Given the description of an element on the screen output the (x, y) to click on. 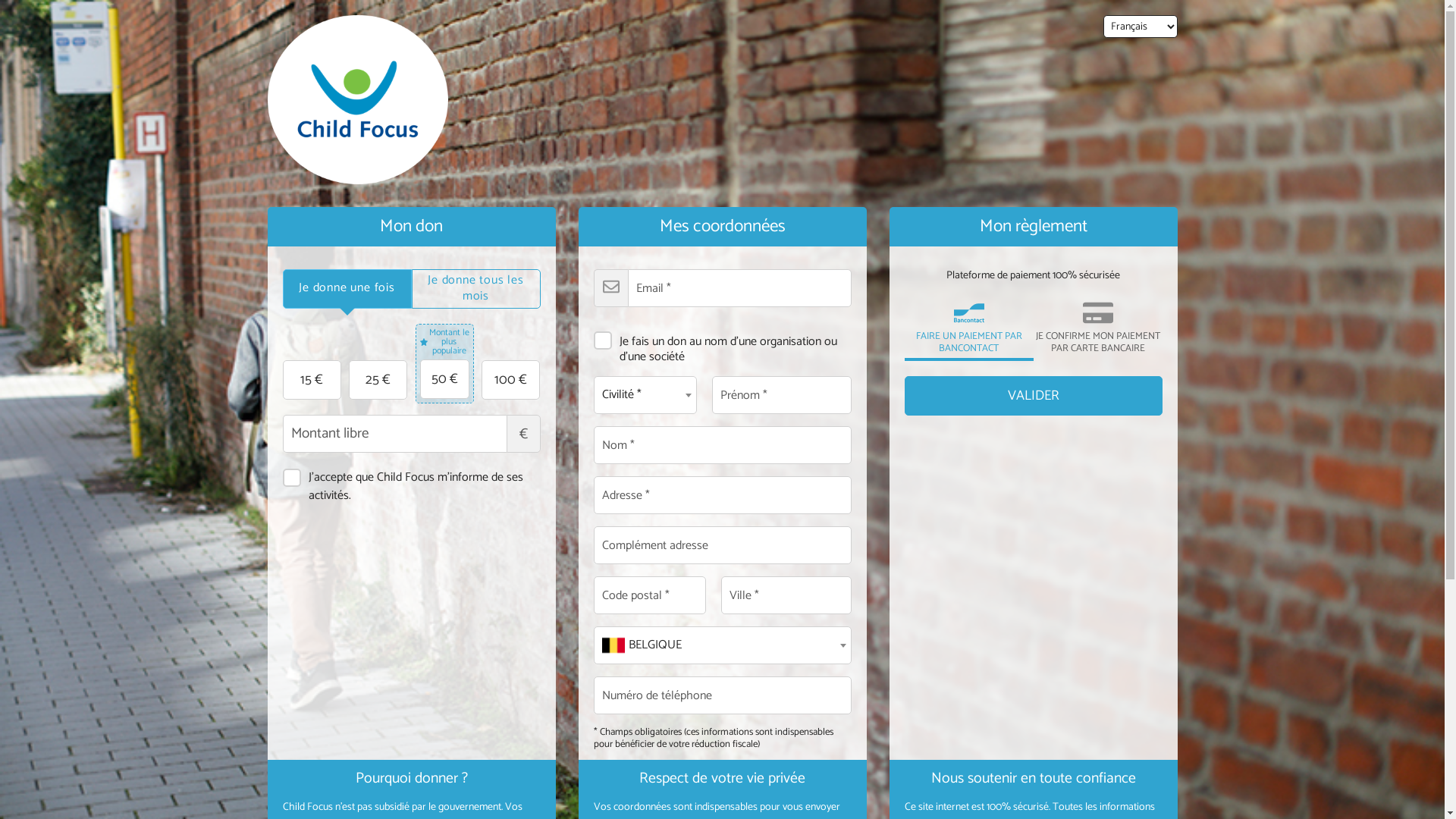
Je donne tous les mois Element type: text (475, 288)
Valider Element type: text (1032, 395)
Child Focus Element type: hover (356, 99)
Je donne une fois Element type: text (347, 288)
